Given the description of an element on the screen output the (x, y) to click on. 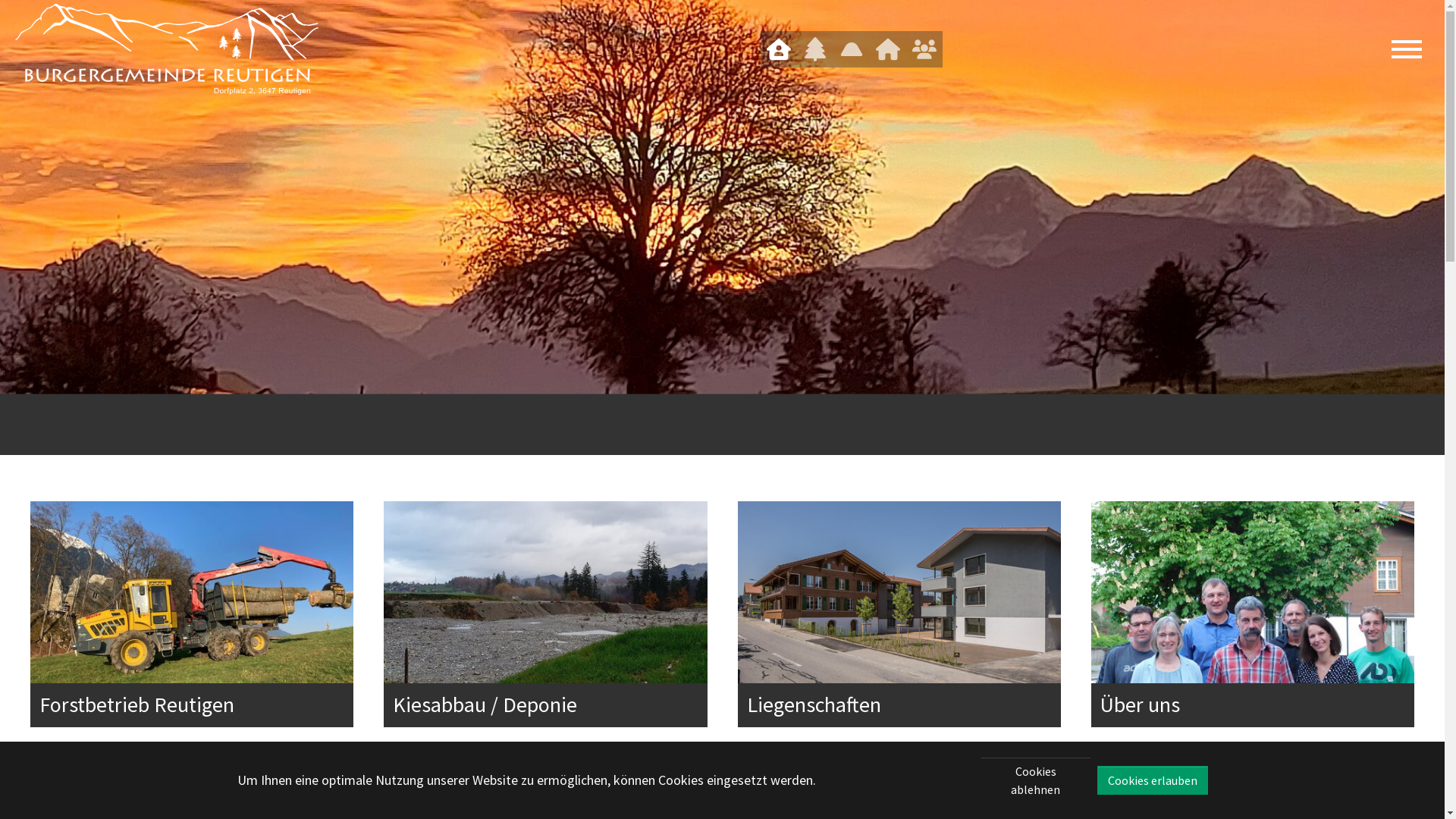
Liegenschaften Element type: hover (887, 49)
Liegenschaften Element type: text (813, 704)
Forstbetrieb Reutigen Element type: text (136, 704)
Forstbetrieb Element type: hover (815, 49)
Burgergemeinde Reutigen Element type: hover (778, 49)
Burgergemeinde Reutigen Element type: hover (166, 49)
Cookies ablehnen Element type: text (1034, 779)
Kiesabbau und Deponie Element type: hover (851, 49)
Kiesabbau / Deponie Element type: text (484, 704)
Cookies erlauben Element type: text (1151, 779)
